Given the description of an element on the screen output the (x, y) to click on. 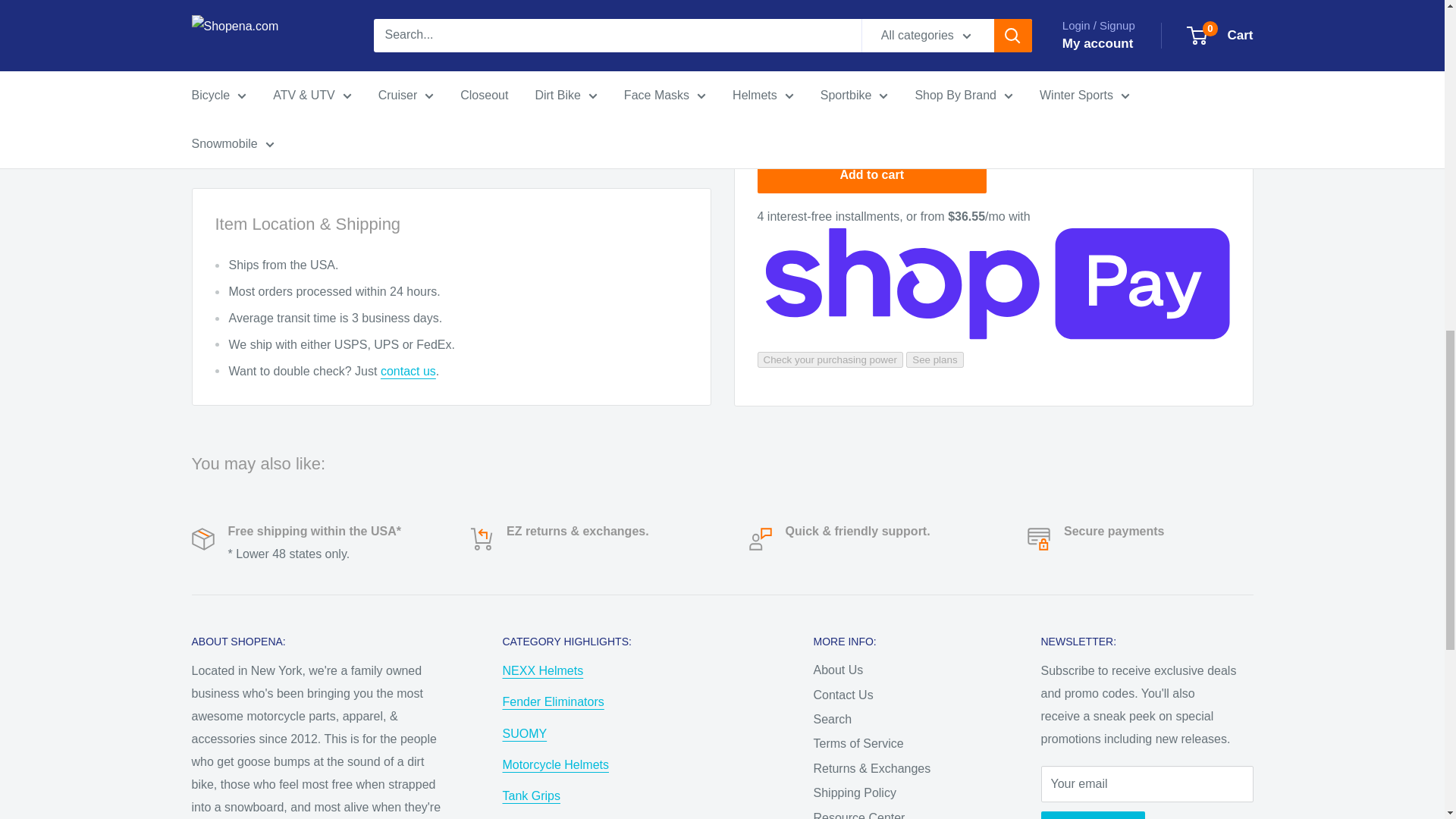
Suomy (524, 732)
Motorcycle Fender Eliminators (553, 701)
Helmets (555, 764)
Motorcycle Tank Grips (530, 795)
NEXX (542, 670)
